Given the description of an element on the screen output the (x, y) to click on. 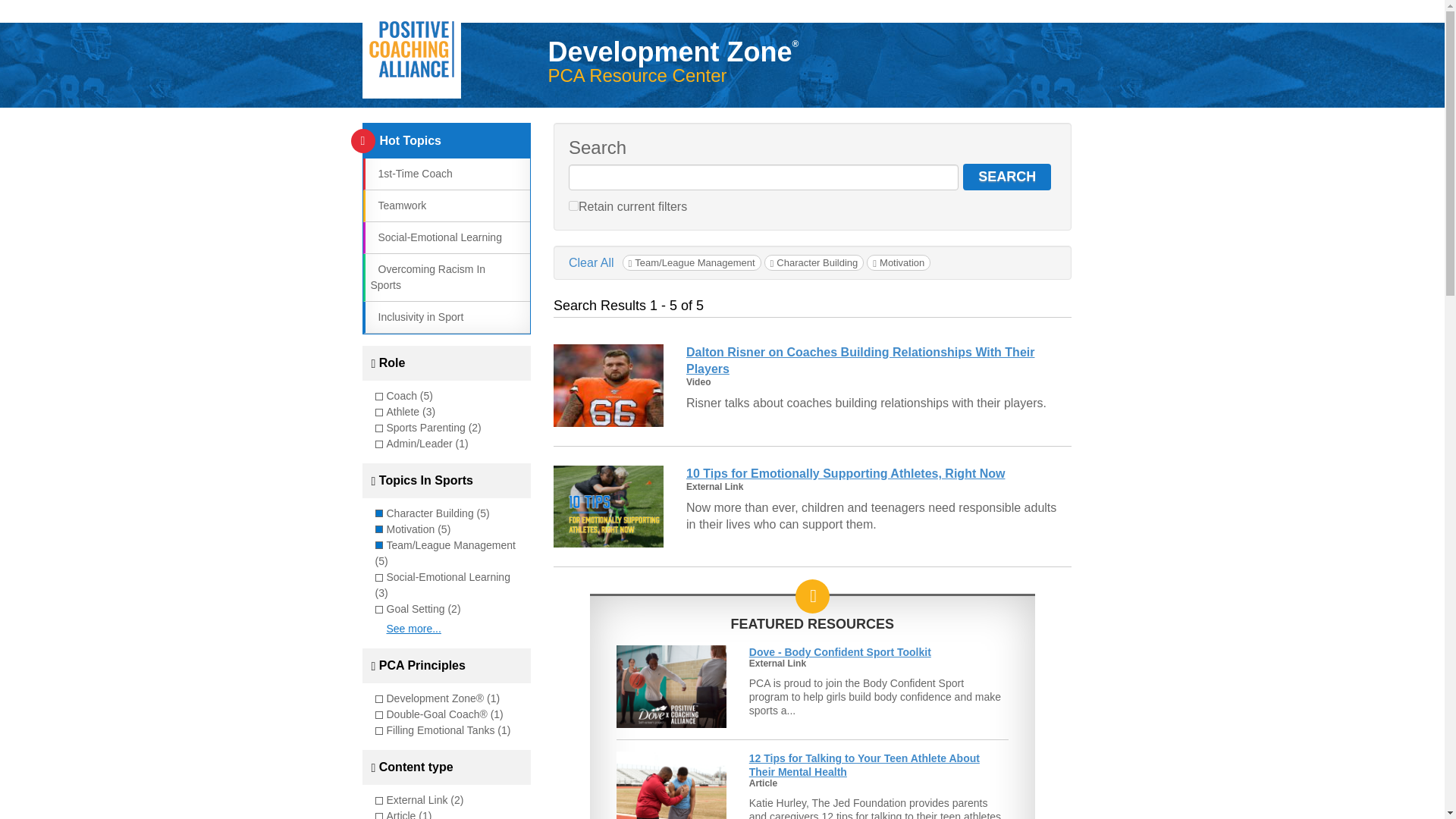
See more... (414, 628)
Inclusivity in Sport (416, 316)
Overcoming Racism In Sports (426, 276)
1st-Time Coach (410, 173)
Motivation (898, 262)
1 (573, 205)
Teamwork (397, 205)
SEARCH (1006, 176)
Character Building (814, 262)
